Given the description of an element on the screen output the (x, y) to click on. 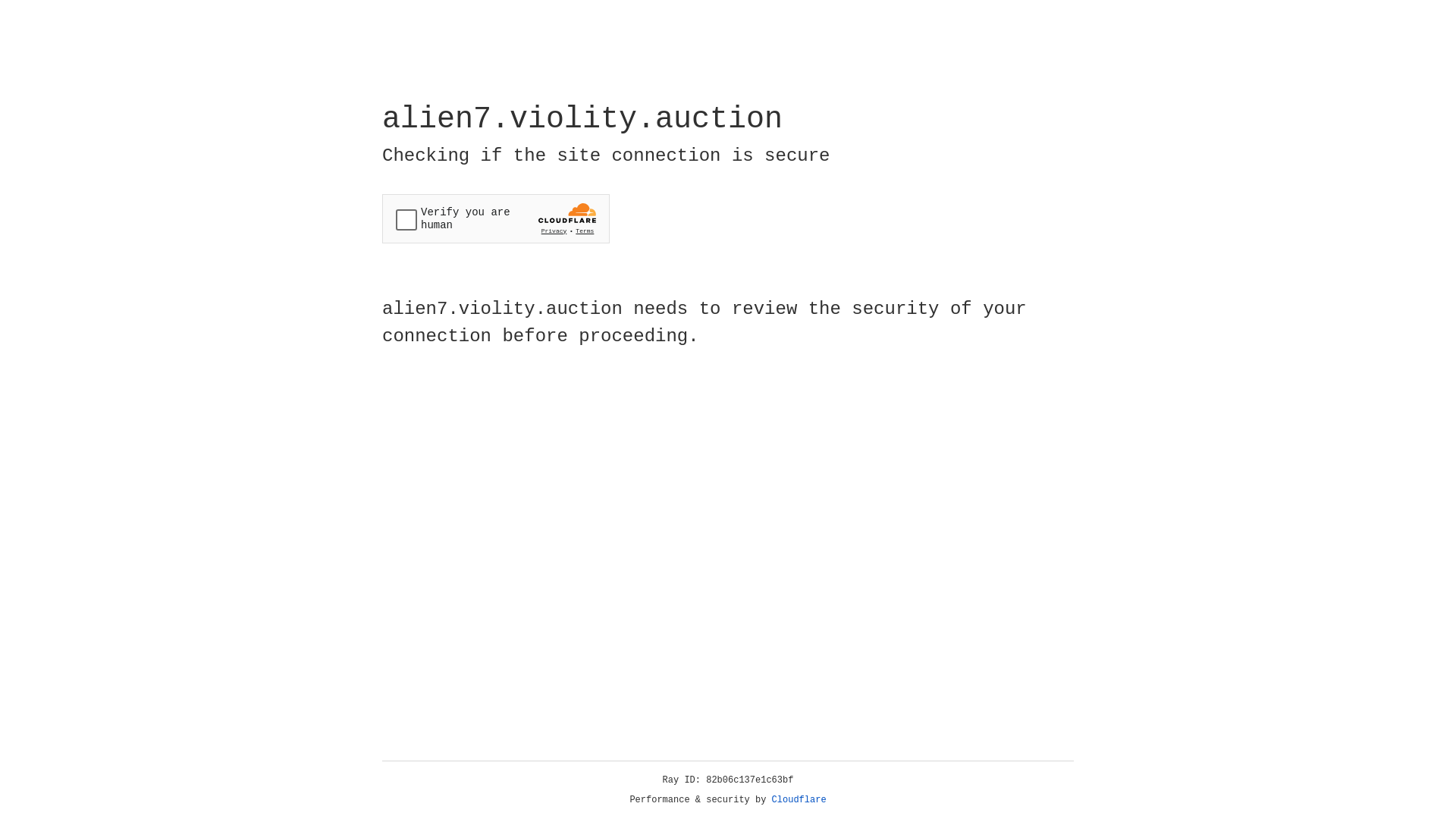
Widget containing a Cloudflare security challenge Element type: hover (495, 218)
Cloudflare Element type: text (798, 799)
